Given the description of an element on the screen output the (x, y) to click on. 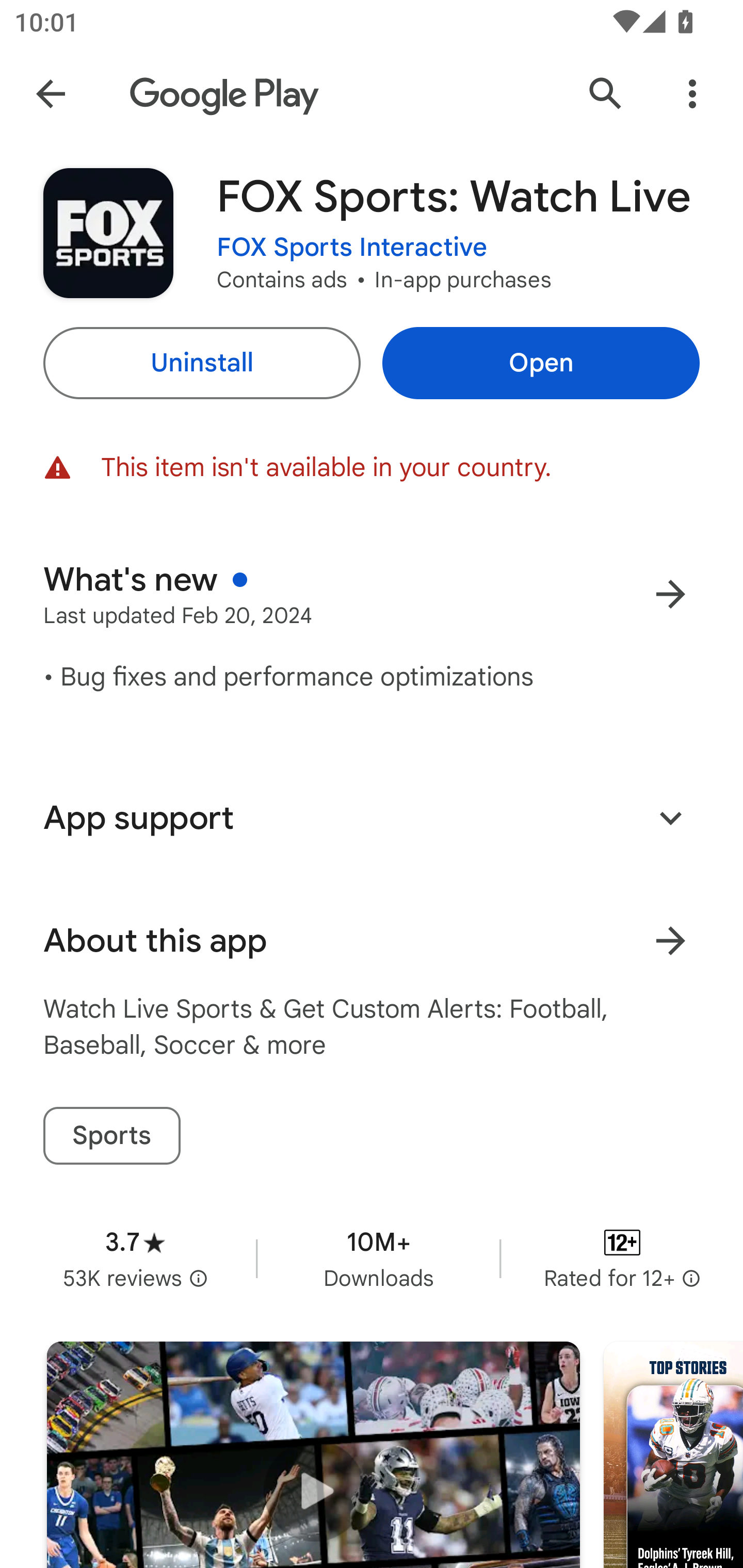
Navigate up (50, 93)
Search Google Play (605, 93)
More Options (692, 93)
FOX Sports Interactive (351, 247)
Uninstall (201, 362)
Open (540, 362)
More results for What's new (670, 594)
App support Expand (371, 817)
Expand (670, 817)
About this app Learn more About this app (371, 940)
Learn more About this app (670, 940)
Sports tag (111, 1135)
Average rating 3.7 stars in 53 thousand reviews (135, 1258)
Content rating Rated for 12+ (622, 1258)
Play trailer for "FOX Sports: Watch Live" (313, 1455)
